Given the description of an element on the screen output the (x, y) to click on. 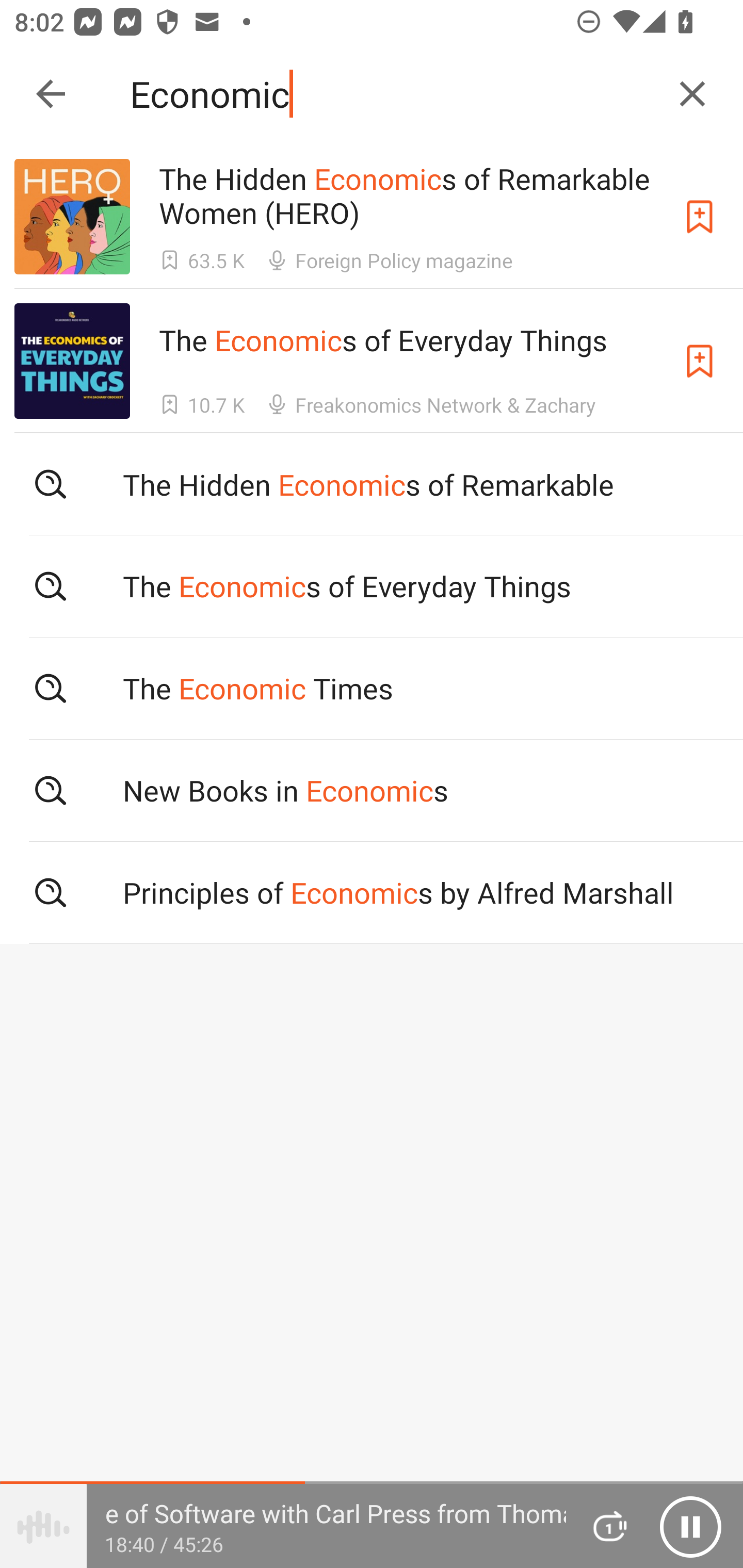
Collapse (50, 93)
Clear query (692, 93)
Economic (393, 94)
Subscribe (699, 216)
Subscribe (699, 360)
 The Hidden Economics of Remarkable Women (HERO) (371, 483)
 The Economics of Everyday Things (371, 585)
 The Economic Times (371, 688)
 New Books in Economics (371, 791)
 Principles of Economics by Alfred Marshall (371, 892)
Pause (690, 1526)
